Given the description of an element on the screen output the (x, y) to click on. 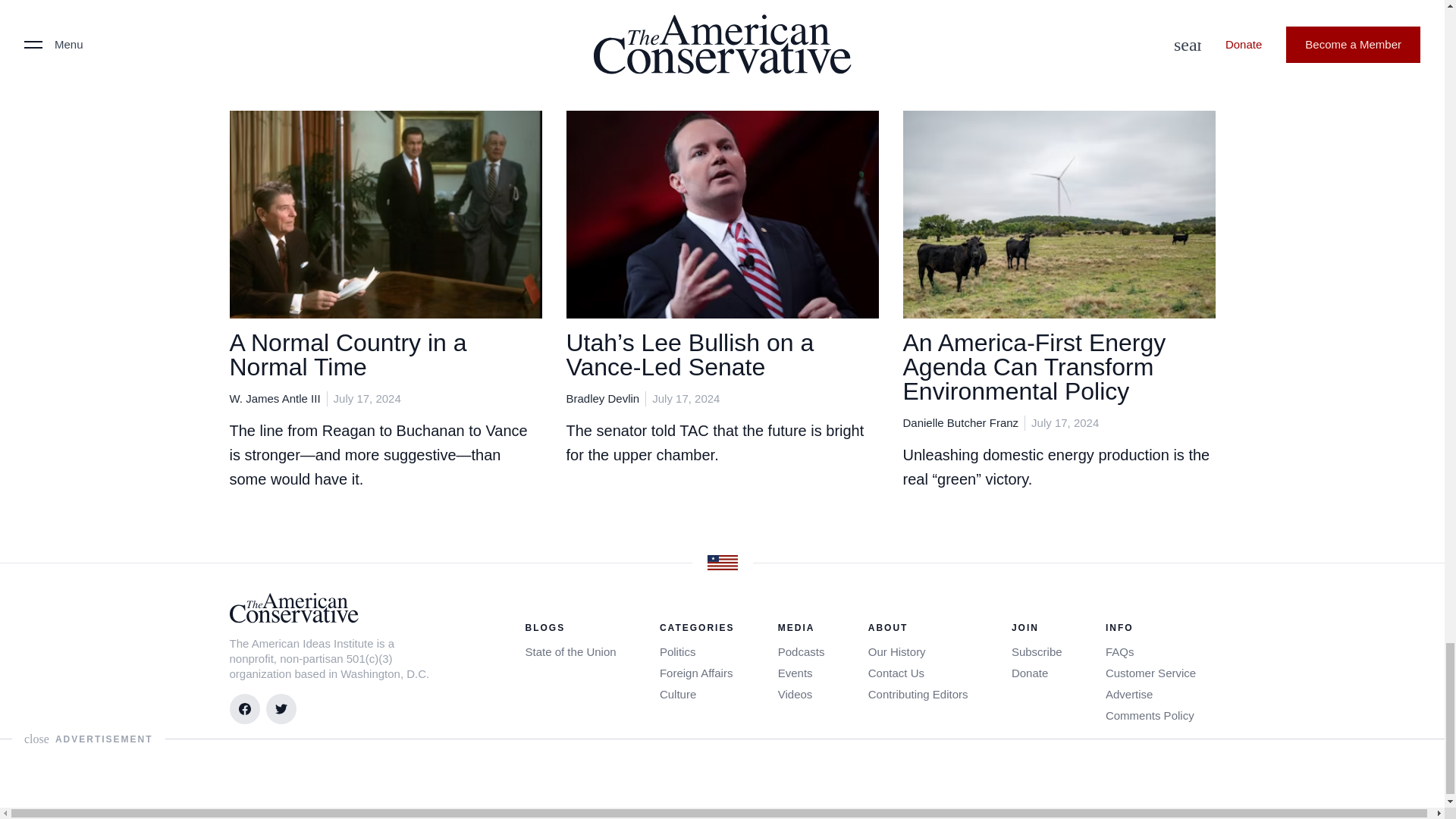
W. James Antle III (274, 398)
A Normal Country in a Normal Time (346, 354)
